Given the description of an element on the screen output the (x, y) to click on. 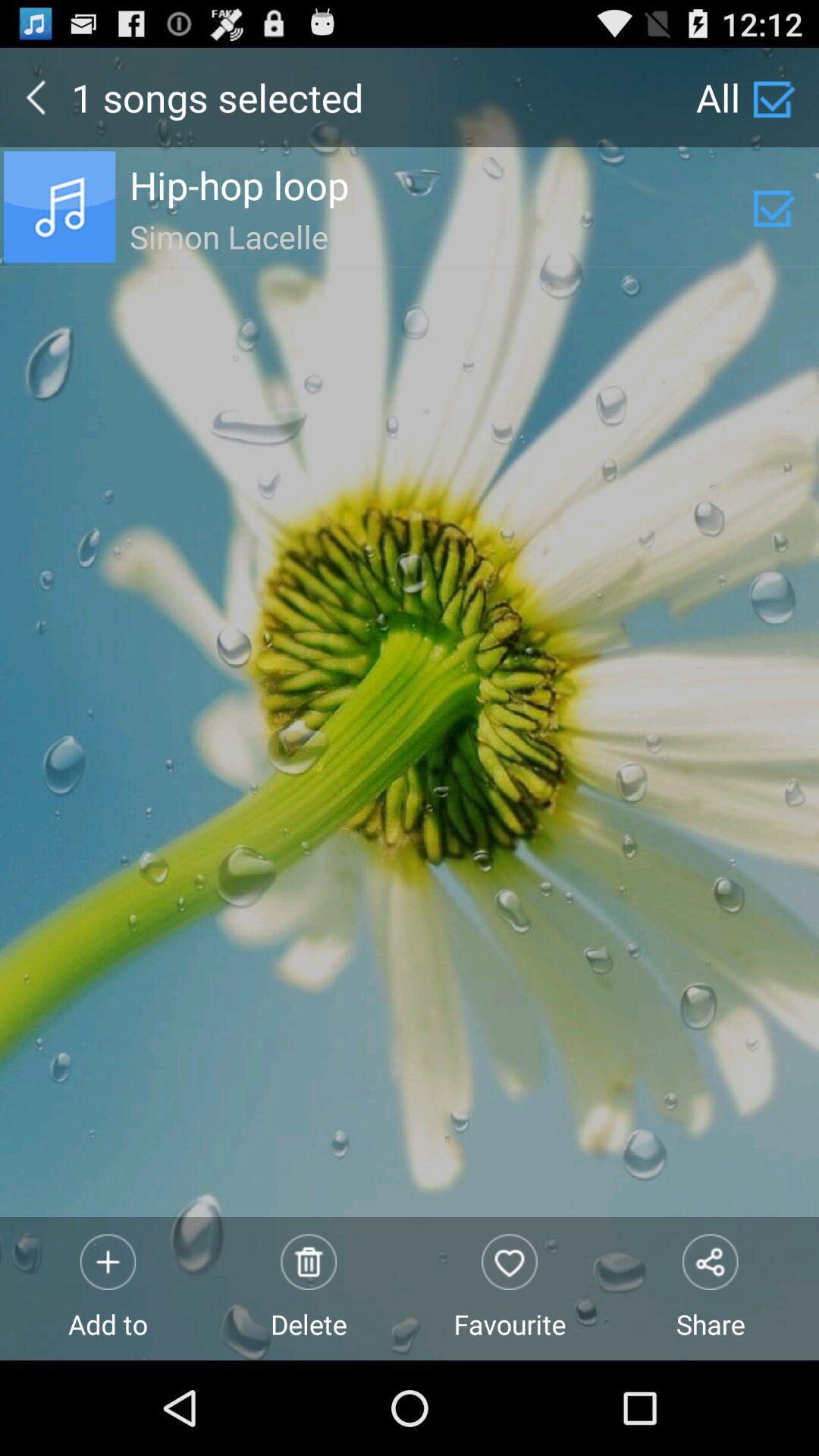
press the item to the right of favourite icon (710, 1288)
